Given the description of an element on the screen output the (x, y) to click on. 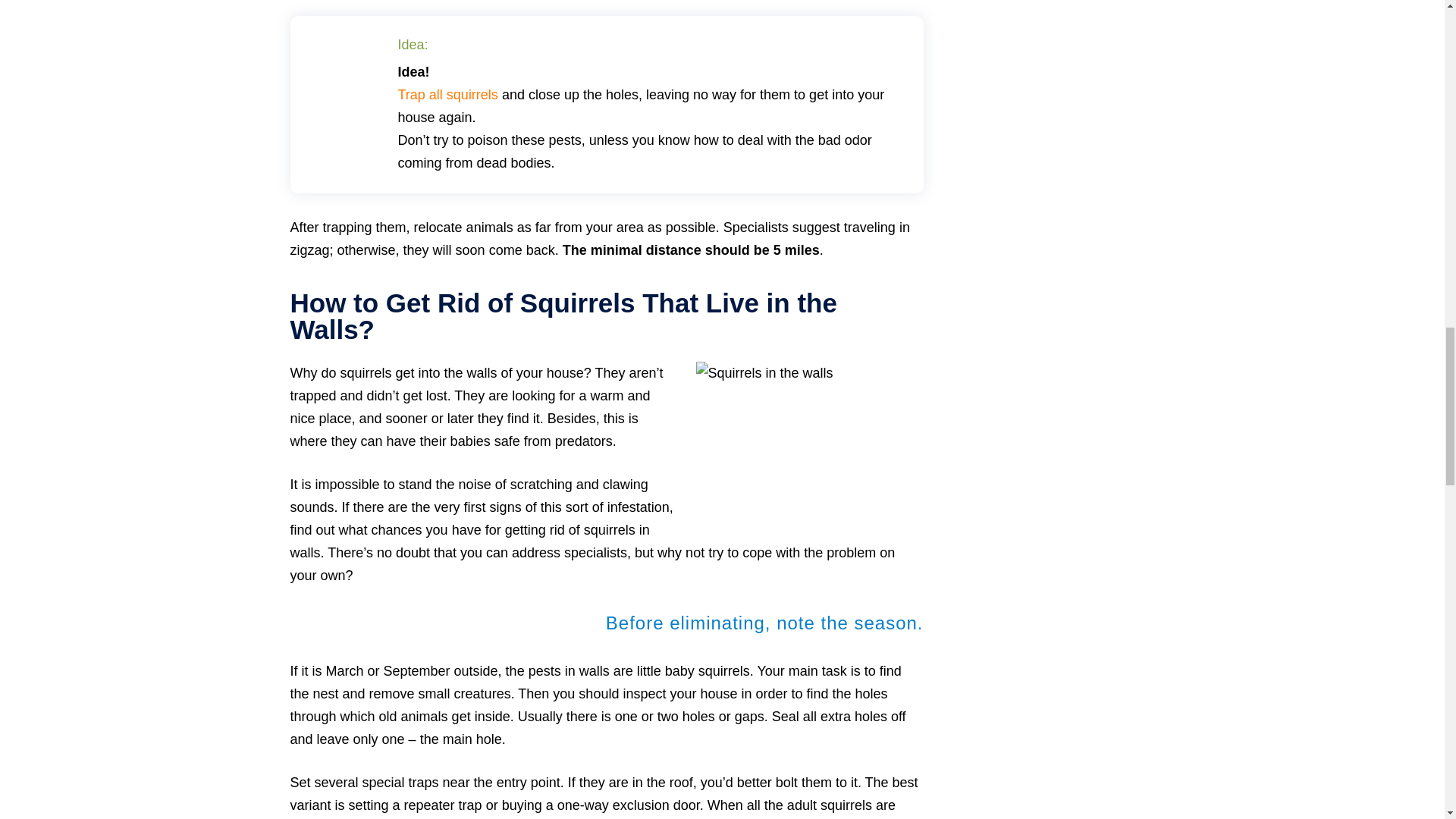
Trap all squirrels (447, 94)
